Given the description of an element on the screen output the (x, y) to click on. 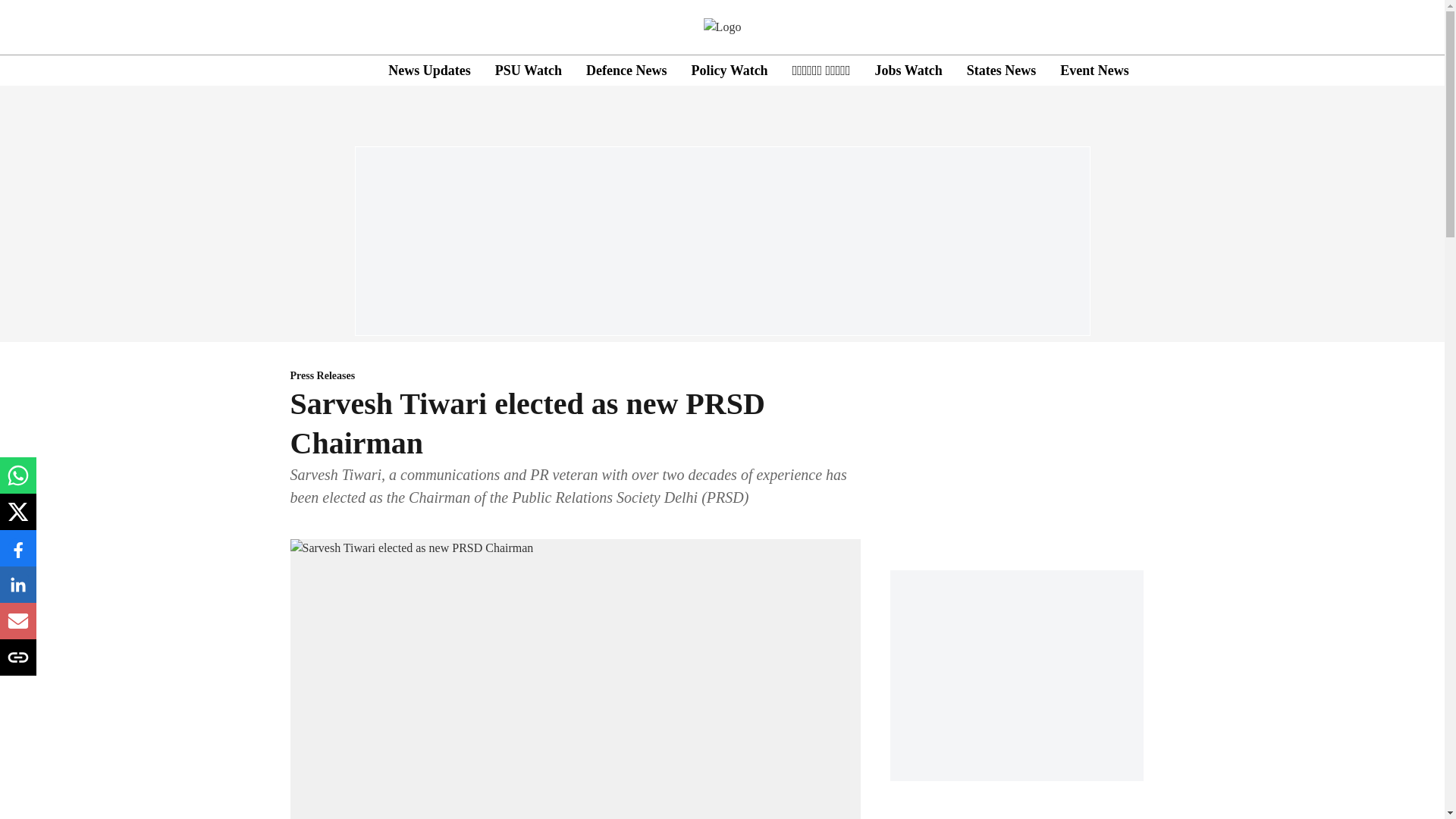
Event News (1094, 70)
PSU Watch (528, 70)
Policy Watch (728, 70)
News Updates (429, 70)
Press Releases (574, 376)
Defence News (626, 70)
States News (1001, 70)
Jobs Watch (908, 70)
